Given the description of an element on the screen output the (x, y) to click on. 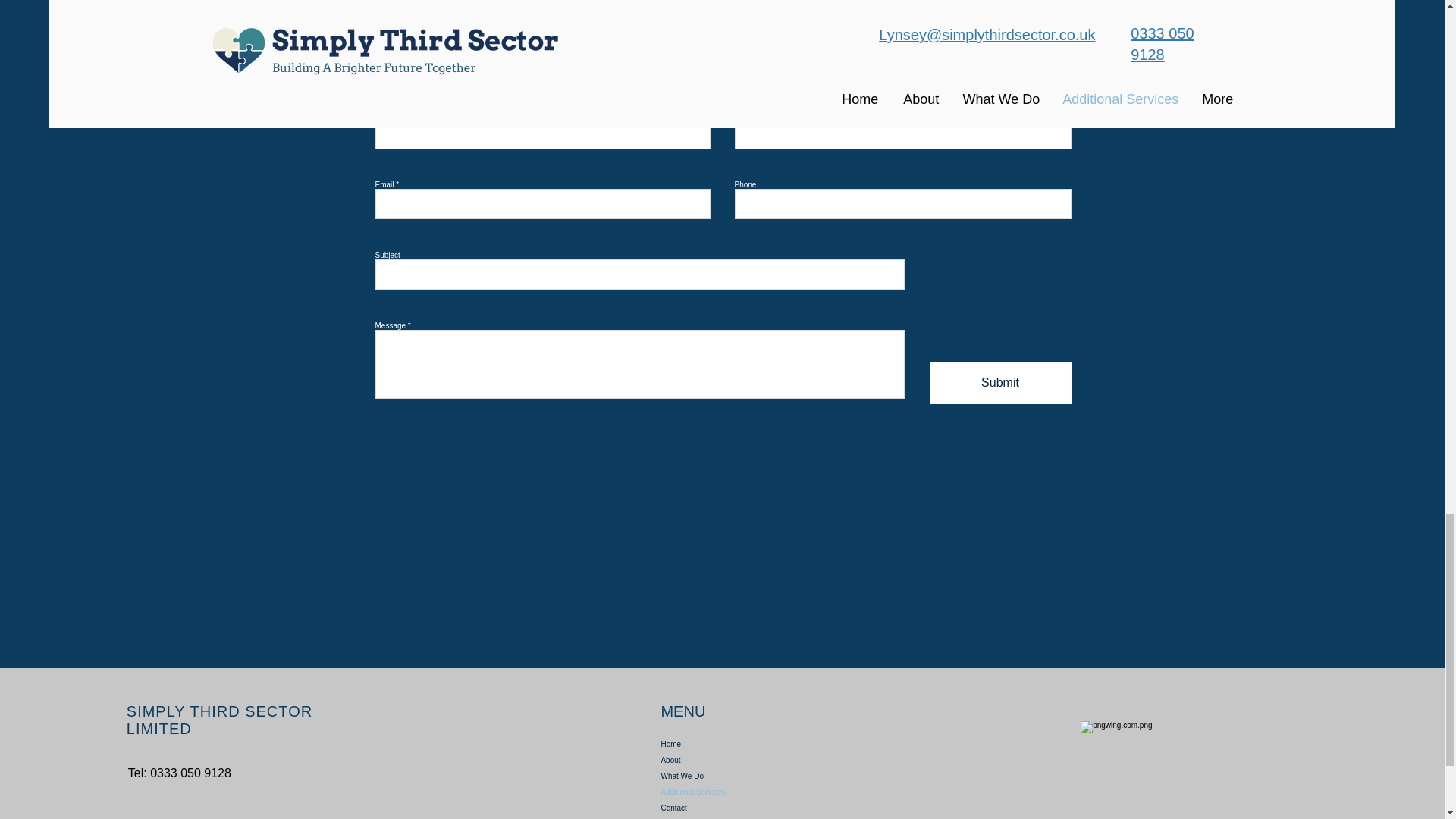
Home (731, 744)
Blog (731, 817)
Contact (731, 807)
What We Do (731, 775)
0788 184 0149 (815, 10)
Additional Services (731, 791)
Submit (1000, 383)
SIMPLY THIRD SECTOR LIMITED (219, 719)
About (731, 760)
